Given the description of an element on the screen output the (x, y) to click on. 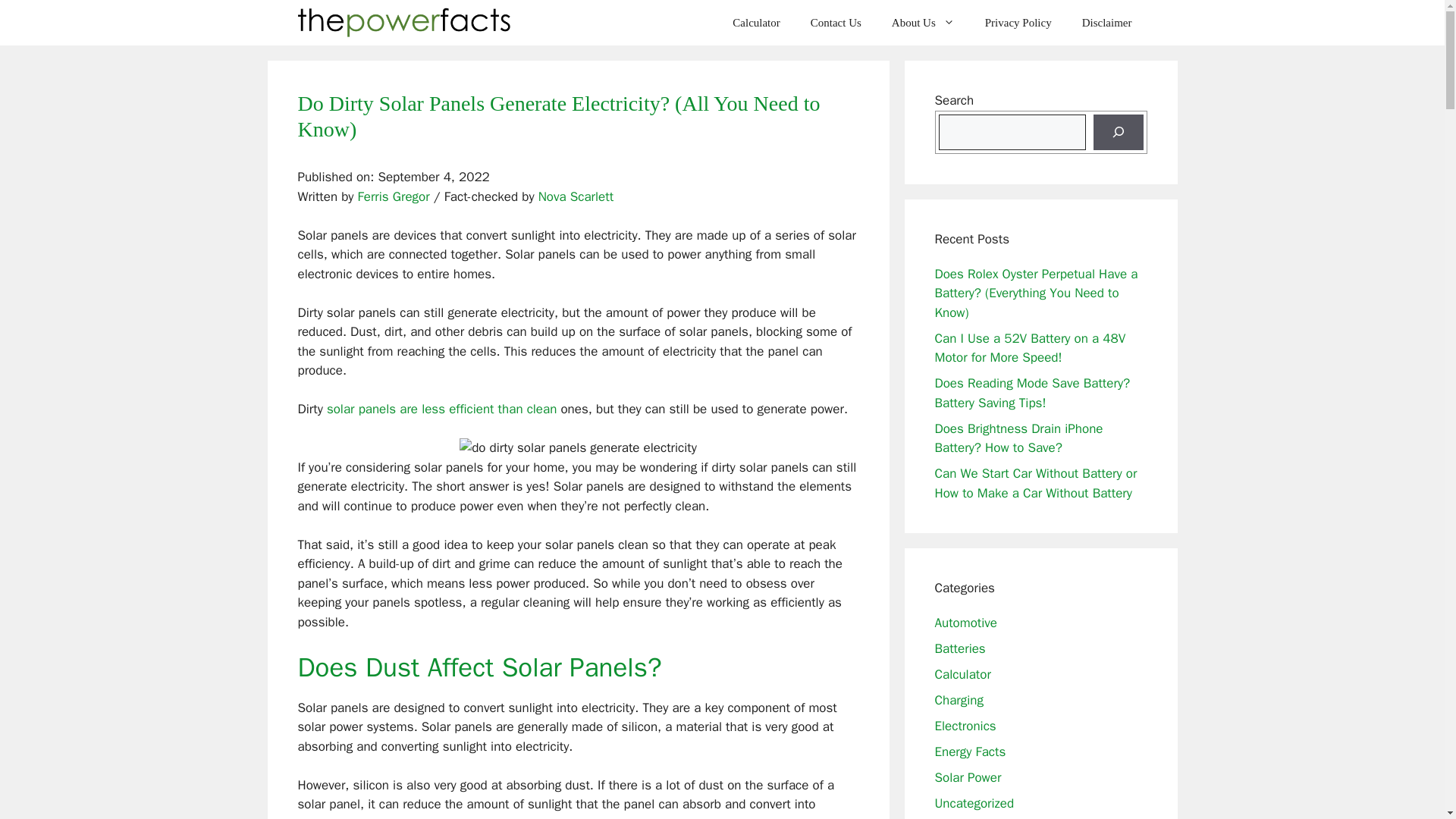
Batteries (959, 647)
Does Brightness Drain iPhone Battery? How to Save? (1018, 437)
The Power Facts (404, 22)
Charging (959, 699)
Does Reading Mode Save Battery? Battery Saving Tips! (1031, 393)
Can I Use a 52V Battery on a 48V Motor for More Speed! (1029, 348)
Privacy Policy (1018, 22)
Automotive (965, 621)
Electronics (964, 725)
Contact Us (835, 22)
Ferris Gregor (393, 196)
Calculator (962, 673)
About Us (922, 22)
Disclaimer (1107, 22)
Calculator (755, 22)
